Given the description of an element on the screen output the (x, y) to click on. 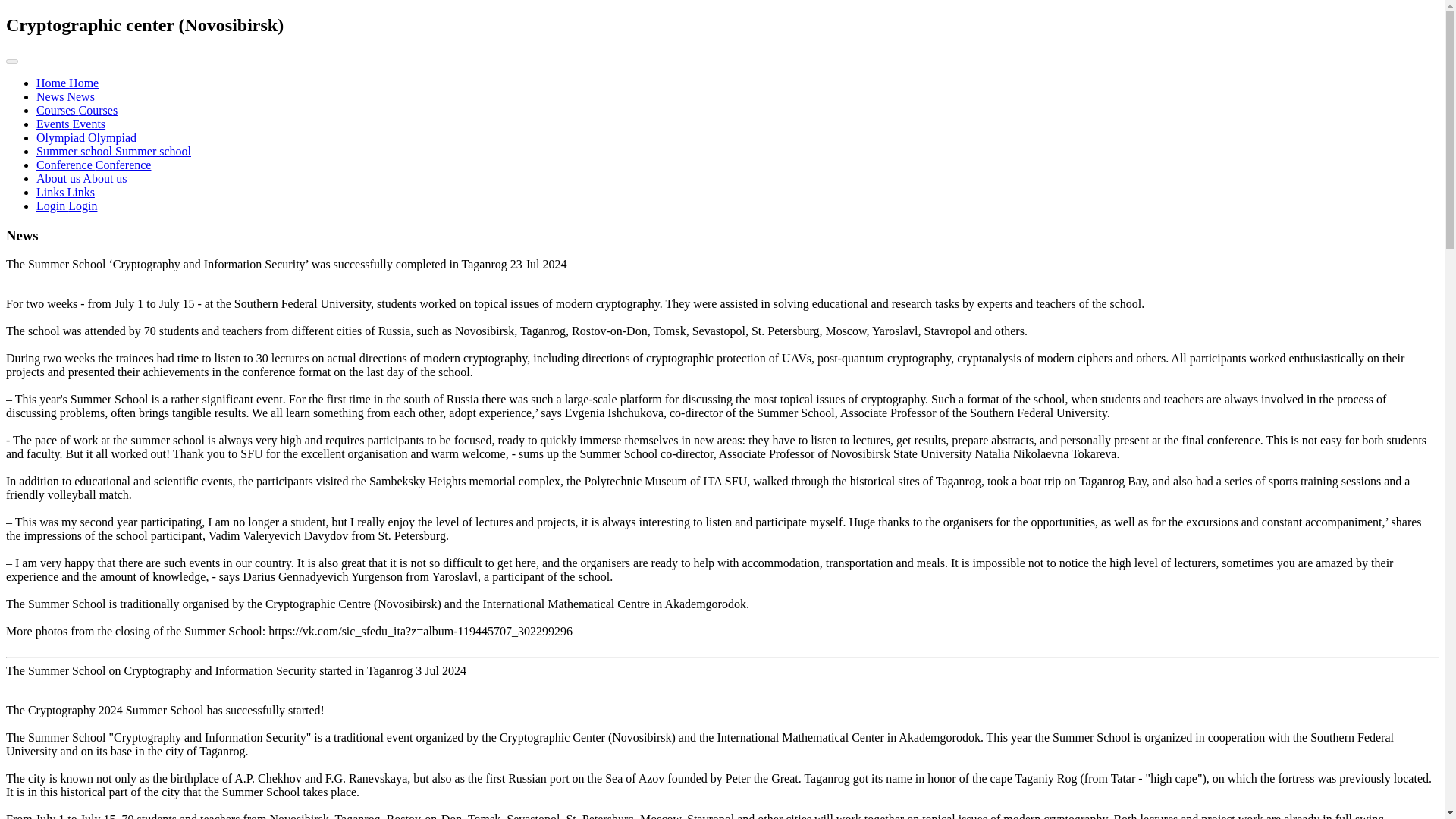
Links Links (65, 192)
Events Events (70, 123)
Olympiad Olympiad (86, 137)
Conference Conference (93, 164)
Login Login (66, 205)
Summer school Summer school (113, 151)
Courses Courses (76, 110)
About us About us (82, 178)
Home Home (67, 82)
News News (65, 96)
